Given the description of an element on the screen output the (x, y) to click on. 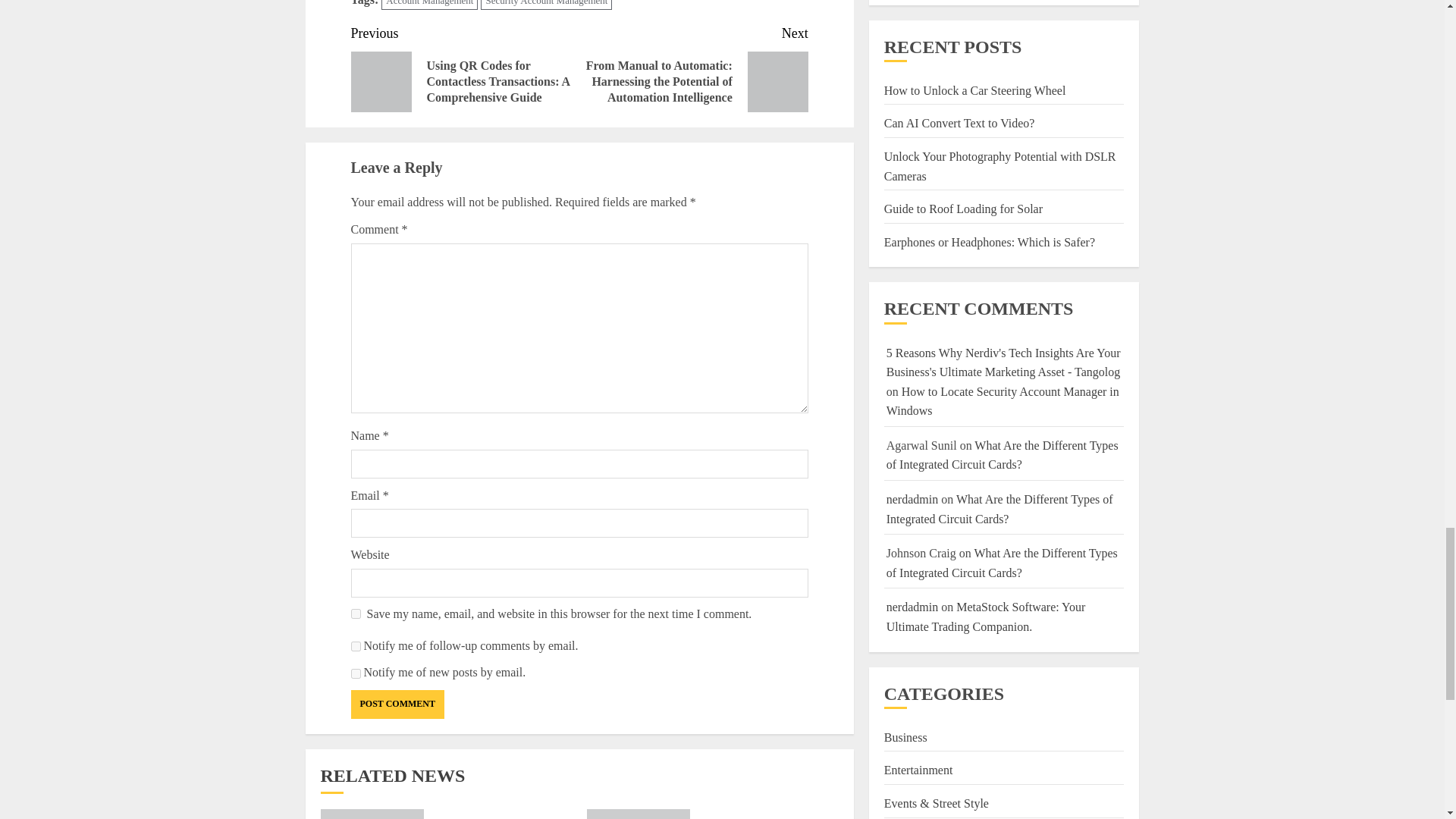
Post Comment (397, 704)
Security Account Management (545, 4)
Account Management (429, 4)
subscribe (354, 673)
Post Comment (397, 704)
subscribe (354, 646)
yes (354, 614)
